Given the description of an element on the screen output the (x, y) to click on. 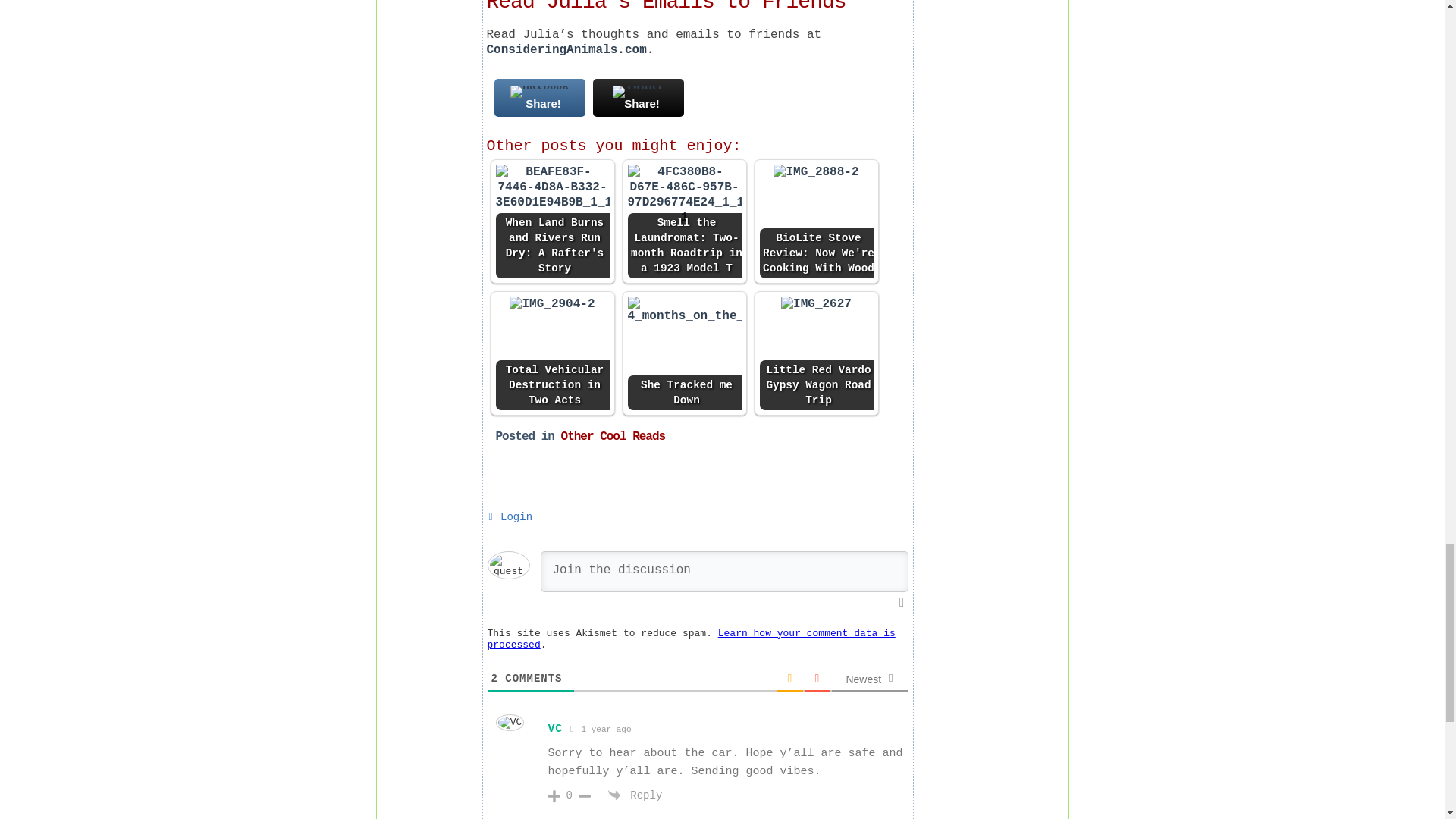
ConsideringAnimals.com (566, 49)
Learn how your comment data is processed (690, 639)
Little Red Vardo Gypsy Wagon Road Trip (815, 304)
She Tracked me Down (684, 309)
When Land Burns and Rivers Run Dry: A Rafter's Story (553, 221)
She Tracked me Down (684, 353)
Little Red Vardo Gypsy Wagon Road Trip (816, 353)
Smell the Laundromat: Two-month Roadtrip in a 1923 Model T (684, 194)
Share! (540, 96)
BioLite Stove Review: Now We're Cooking With Wood (816, 221)
